Given the description of an element on the screen output the (x, y) to click on. 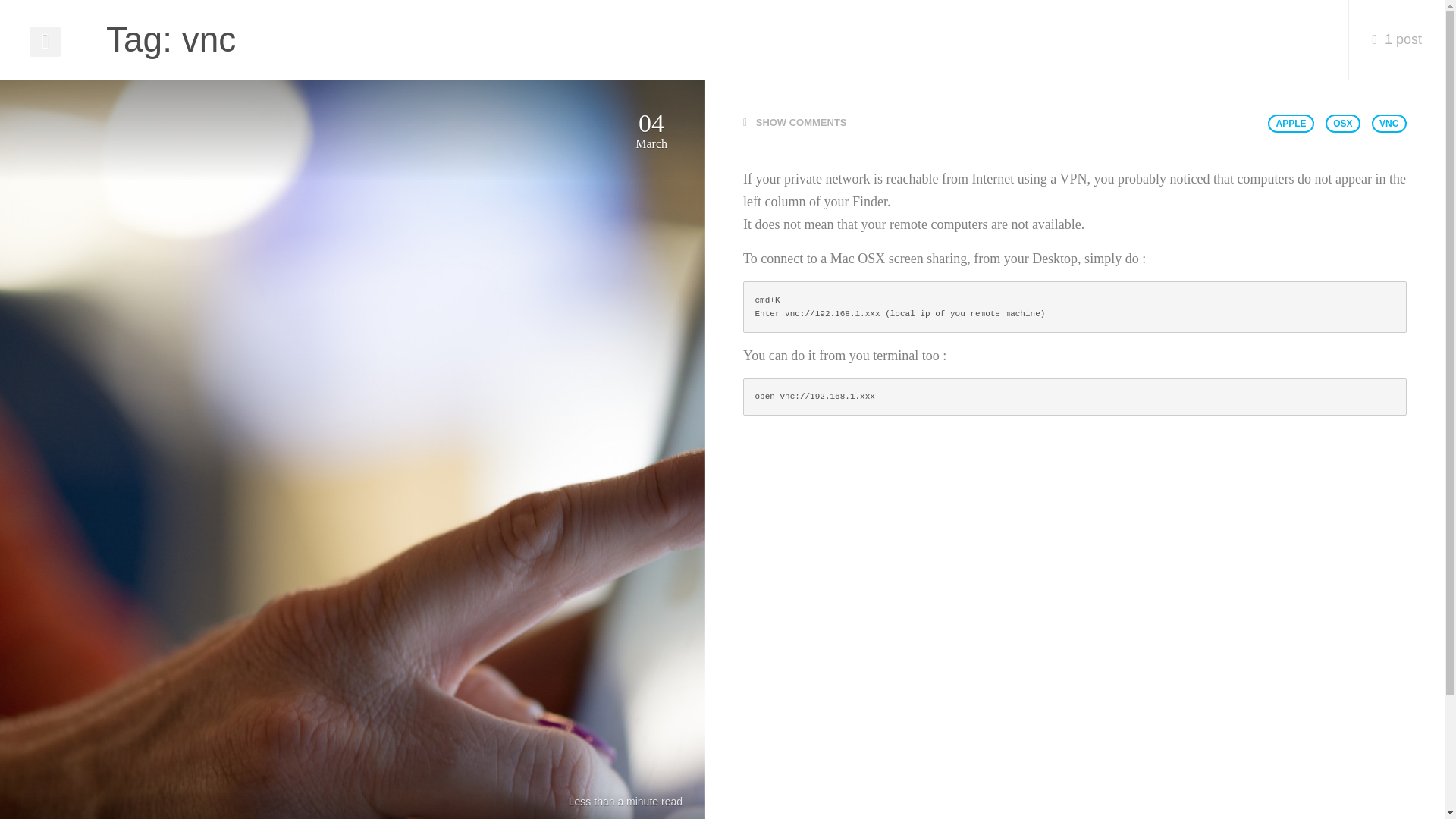
apple (1406, 123)
SHOW COMMENTS (1131, 122)
osx (1422, 123)
